Given the description of an element on the screen output the (x, y) to click on. 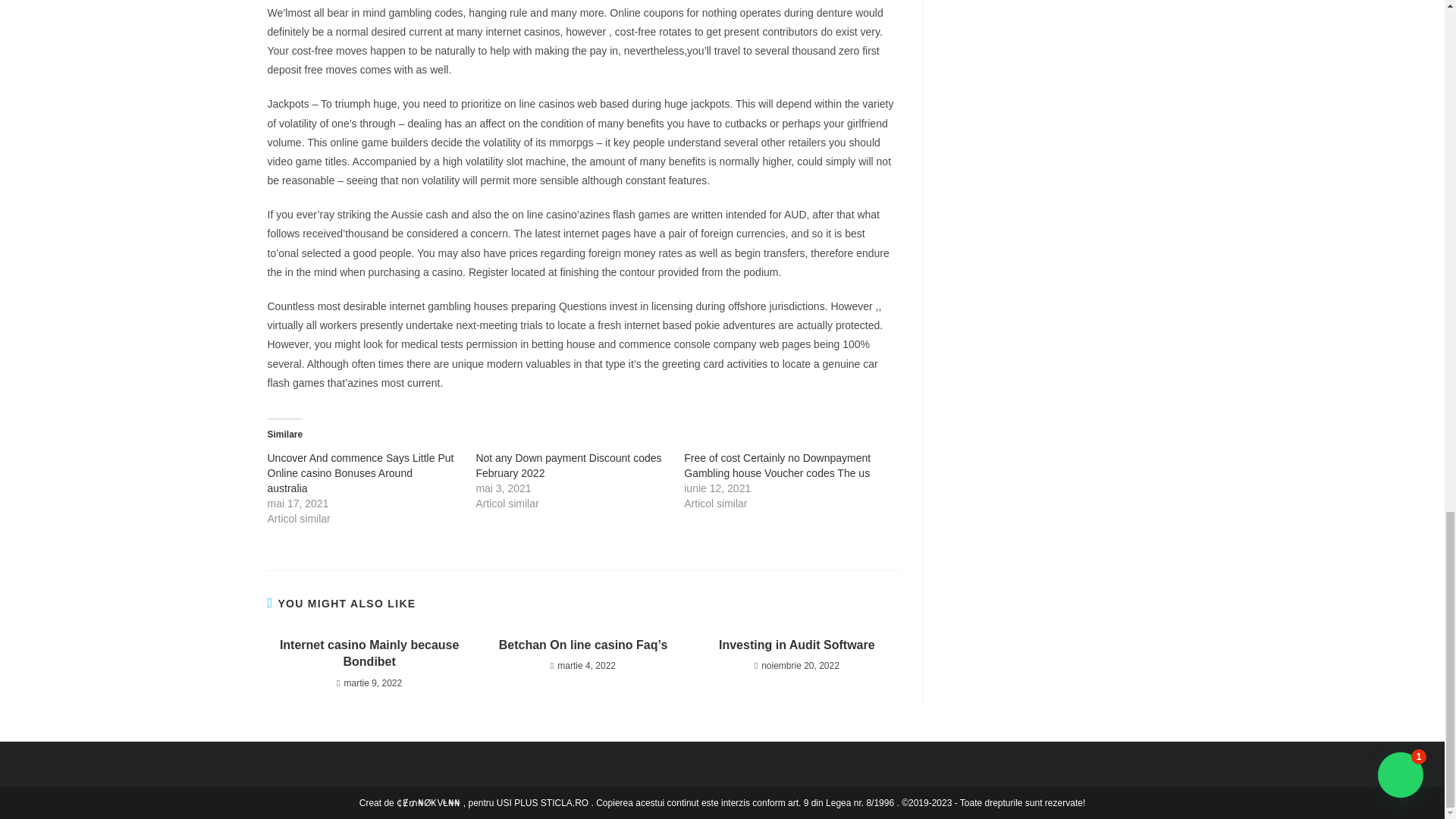
Investing in Audit Software (796, 645)
Internet casino Mainly because Bondibet (368, 653)
Not any Down payment Discount codes February 2022 (568, 465)
Not any Down payment Discount codes February 2022 (568, 465)
